Given the description of an element on the screen output the (x, y) to click on. 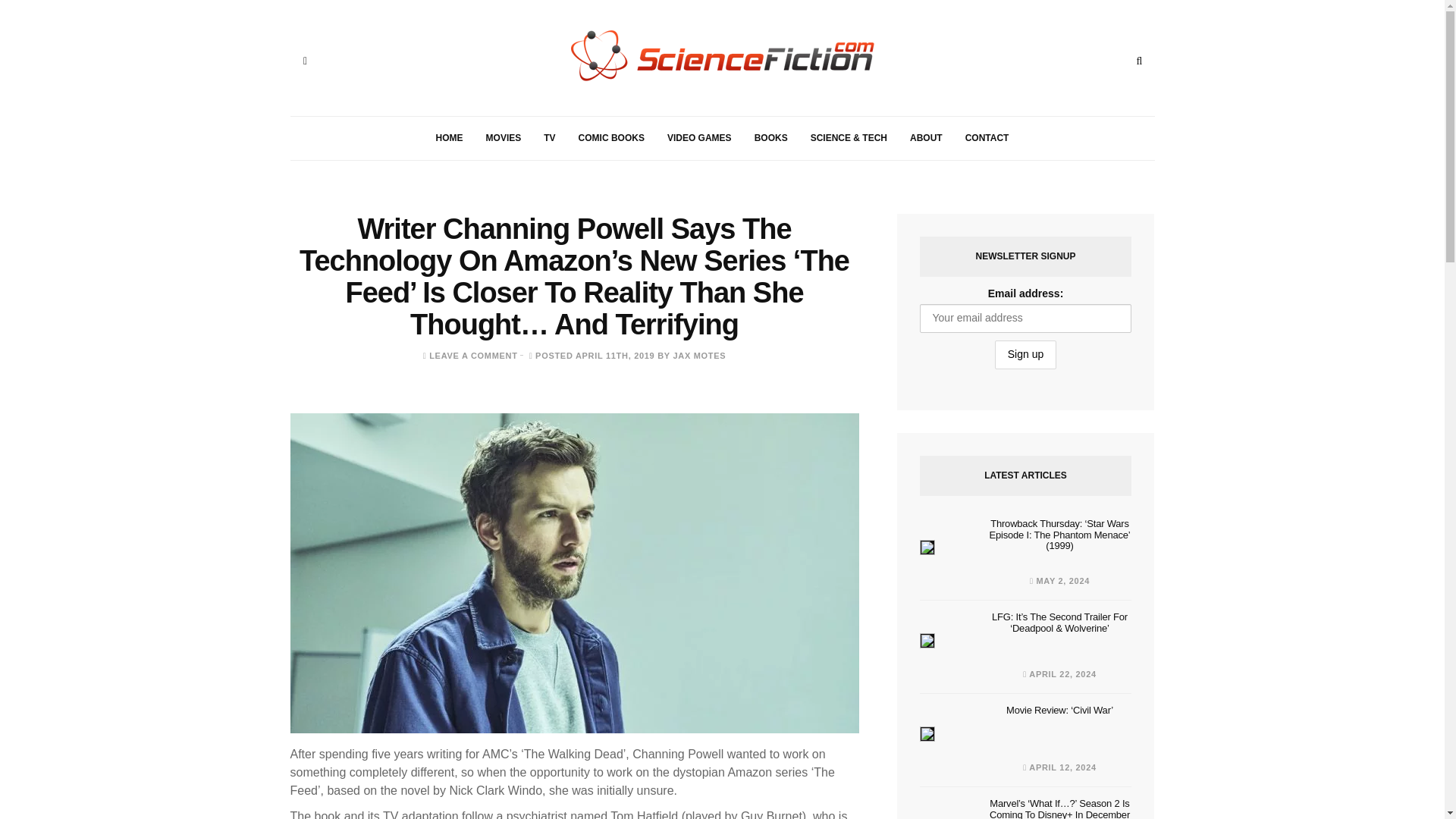
MOVIES (503, 138)
HOME (449, 138)
BOOKS (770, 138)
LEAVE A COMMENT (472, 355)
ABOUT (925, 138)
JAX MOTES (698, 355)
Search (1139, 60)
CONTACT (986, 138)
Posts by Jax Motes (698, 355)
COMIC BOOKS (611, 138)
